Given the description of an element on the screen output the (x, y) to click on. 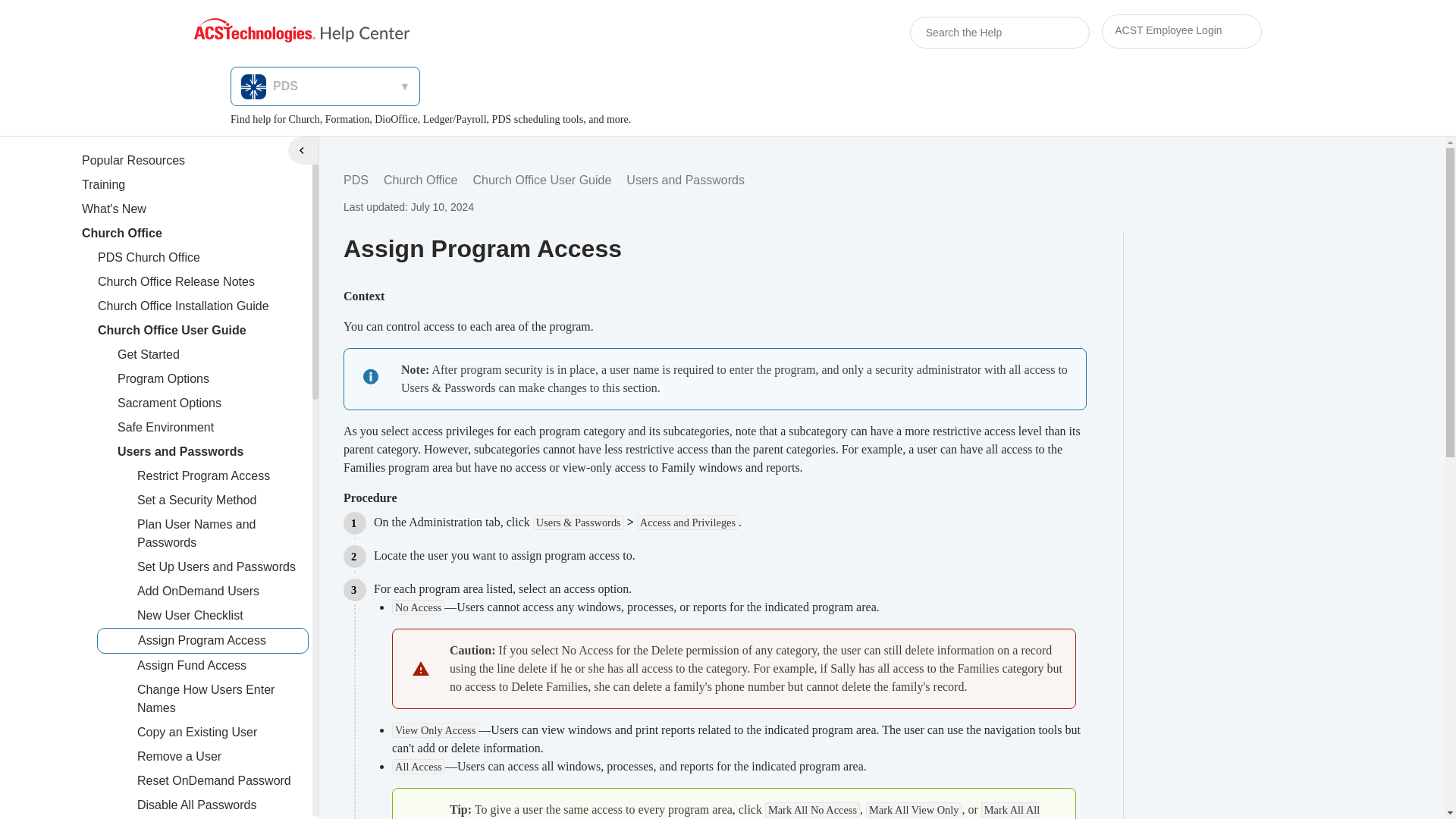
ACST Employee Login (1182, 31)
ACST Employee Login (1182, 31)
search (1039, 32)
